Given the description of an element on the screen output the (x, y) to click on. 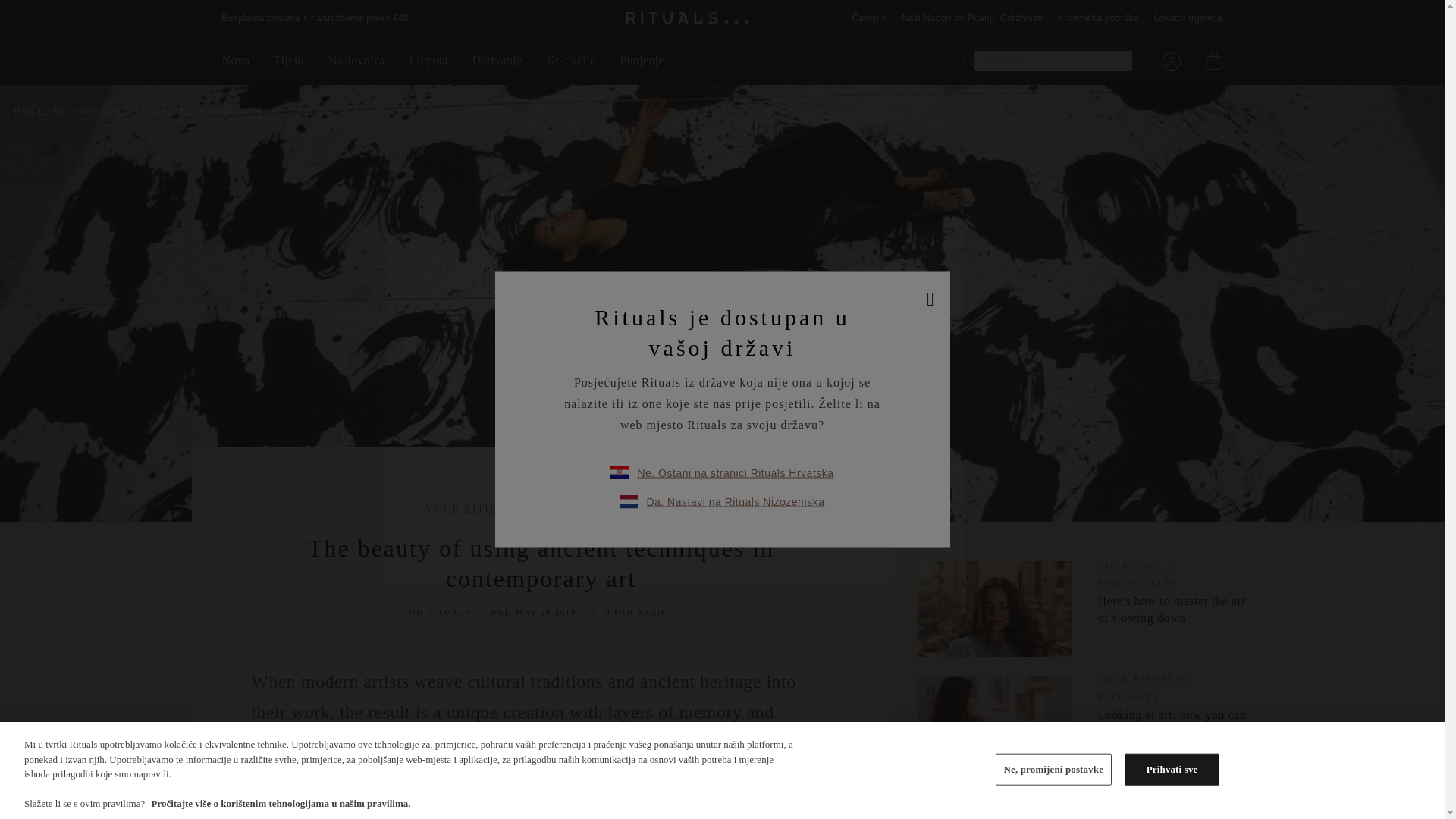
Logotip Rituals (686, 18)
Lokator trgovine (1188, 18)
Rituals Magazine (142, 111)
Your Rituals (255, 111)
